Given the description of an element on the screen output the (x, y) to click on. 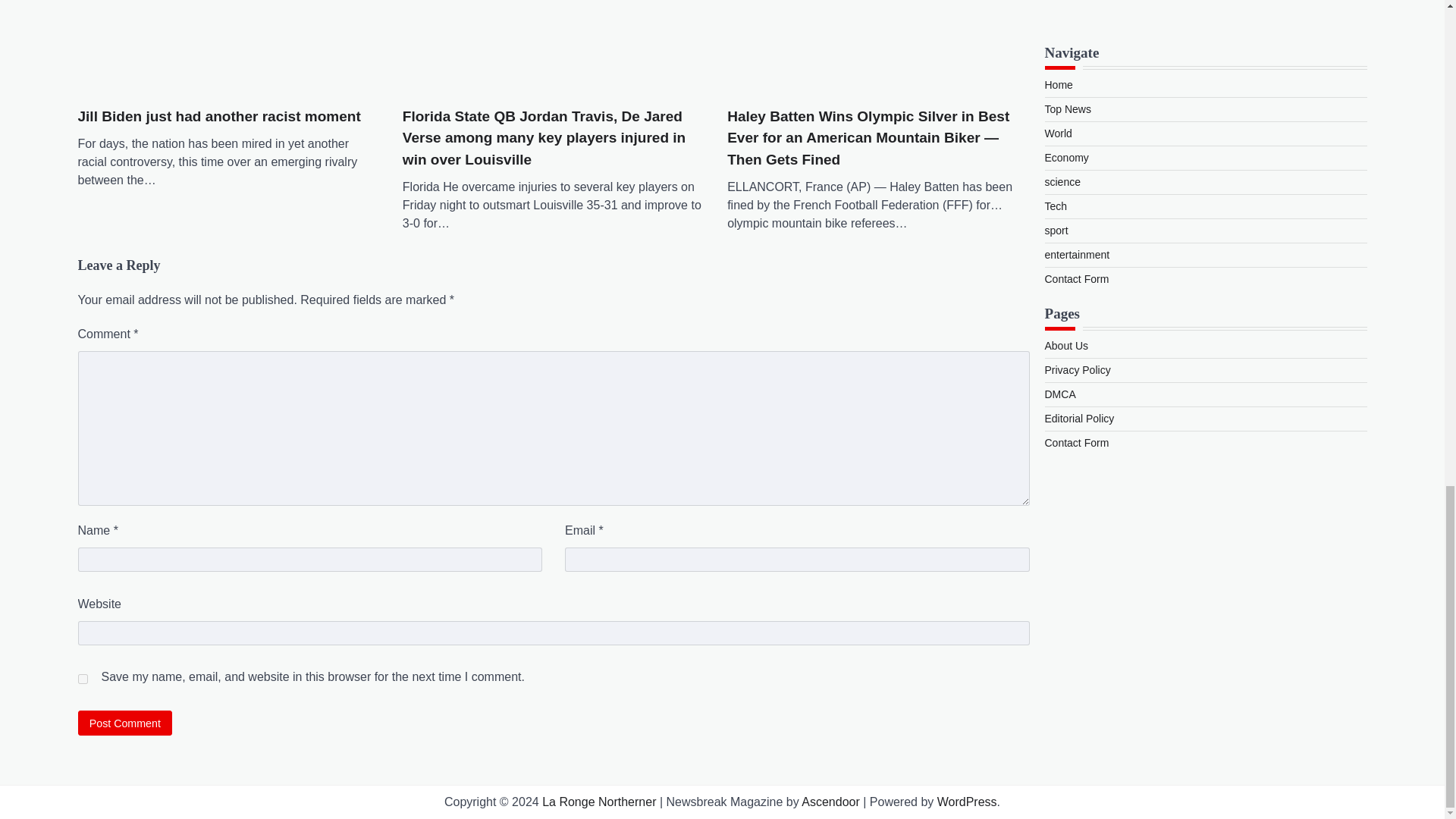
yes (82, 678)
Jill Biden just had another racist moment (218, 116)
Post Comment (124, 722)
Post Comment (124, 722)
Jill Biden just had another racist moment (227, 45)
